Given the description of an element on the screen output the (x, y) to click on. 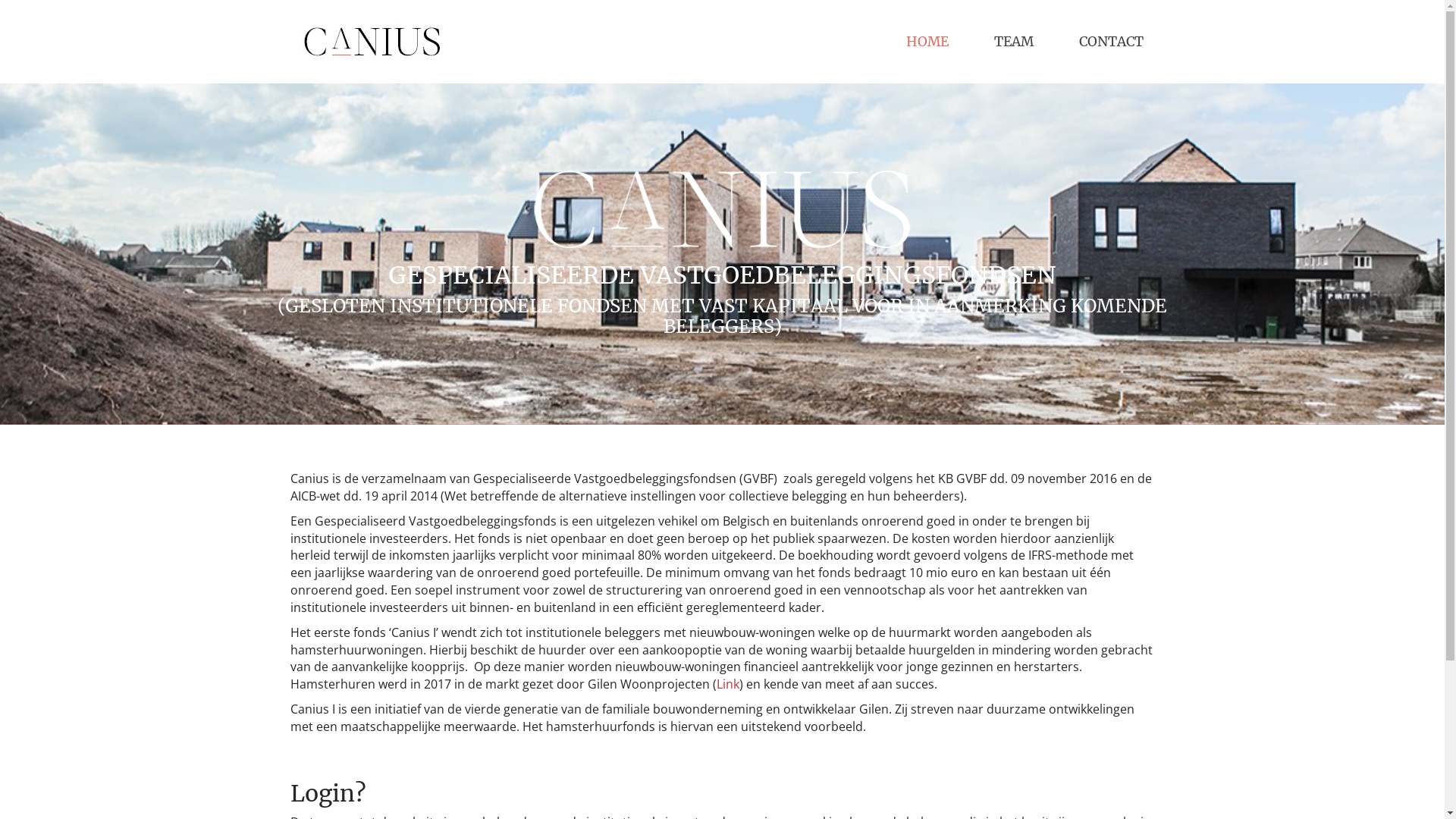
HOME Element type: text (926, 41)
Link Element type: text (726, 683)
TEAM Element type: text (1012, 41)
CONTACT Element type: text (1110, 41)
